Given the description of an element on the screen output the (x, y) to click on. 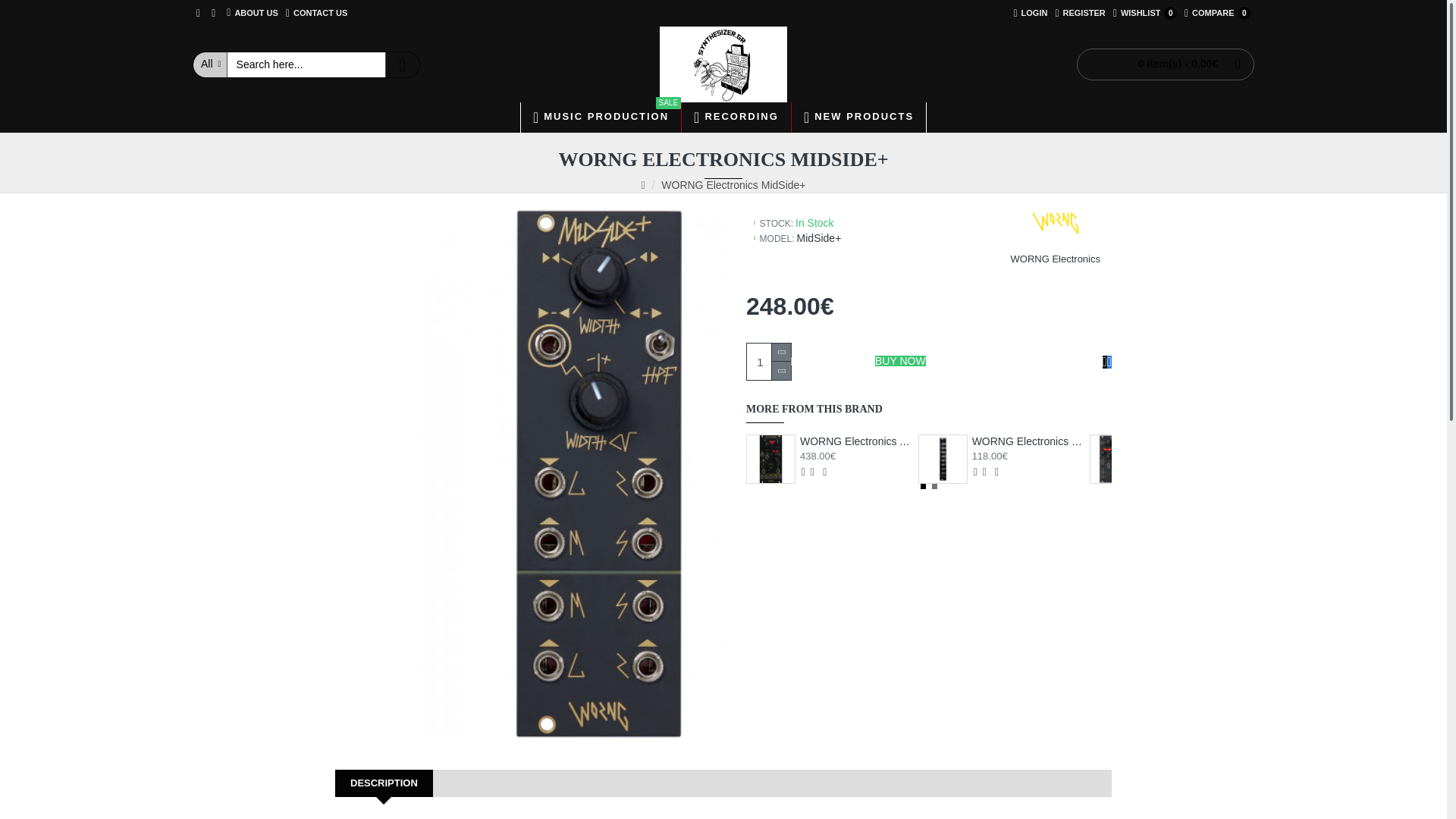
WORNG Electronics Acronym (769, 459)
1 (1216, 13)
S.F.R. (768, 361)
CONTACT US (723, 64)
LOGIN (316, 13)
REGISTER (601, 117)
ABOUT US (1030, 13)
